Given the description of an element on the screen output the (x, y) to click on. 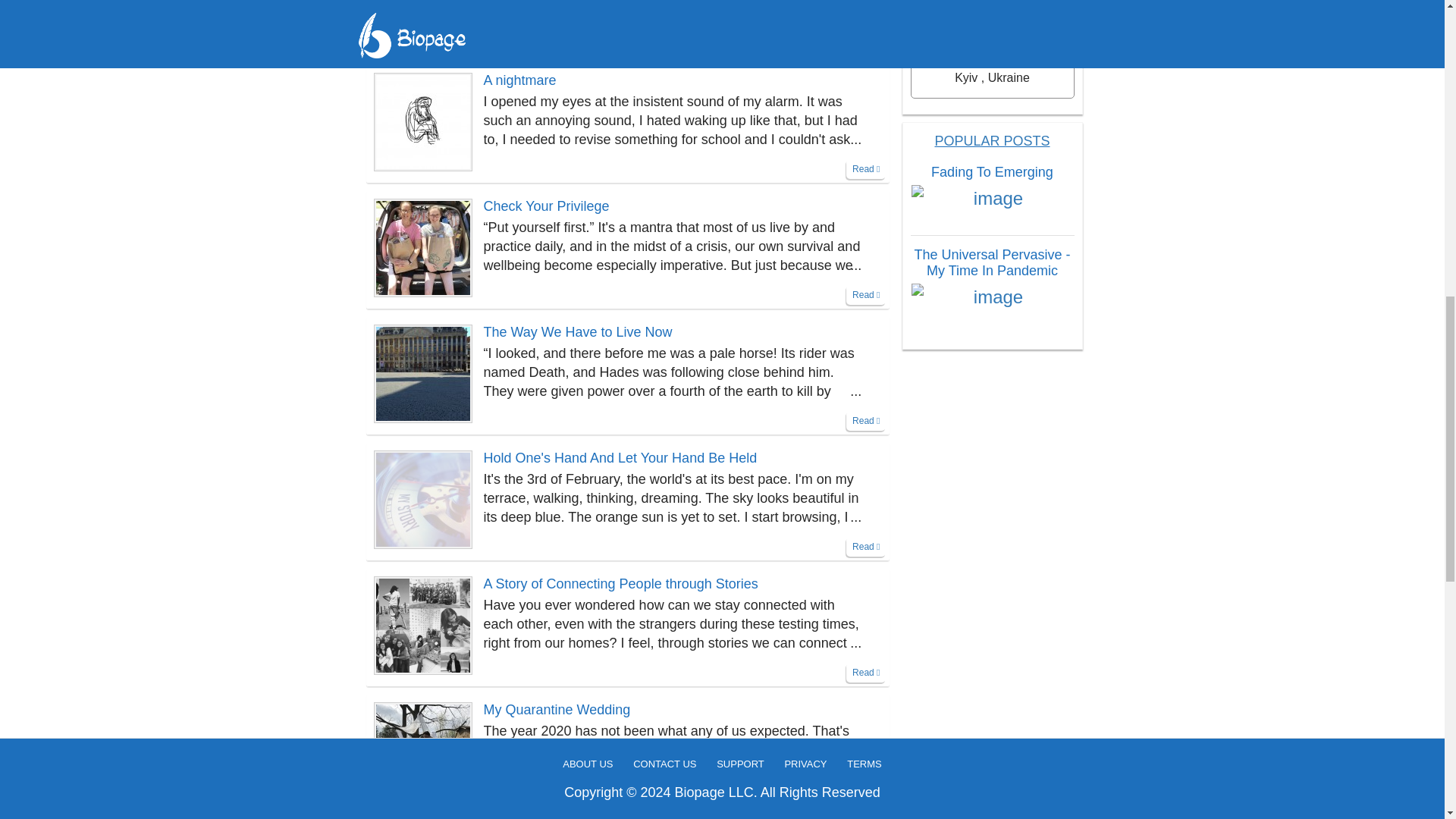
Read (865, 43)
Read (865, 672)
Visit Post (422, 497)
Visit Post (422, 245)
Visit post (666, 206)
Read (865, 546)
Visit post (666, 332)
Read (865, 294)
Visit Post (422, 2)
Visit Post (422, 371)
